Given the description of an element on the screen output the (x, y) to click on. 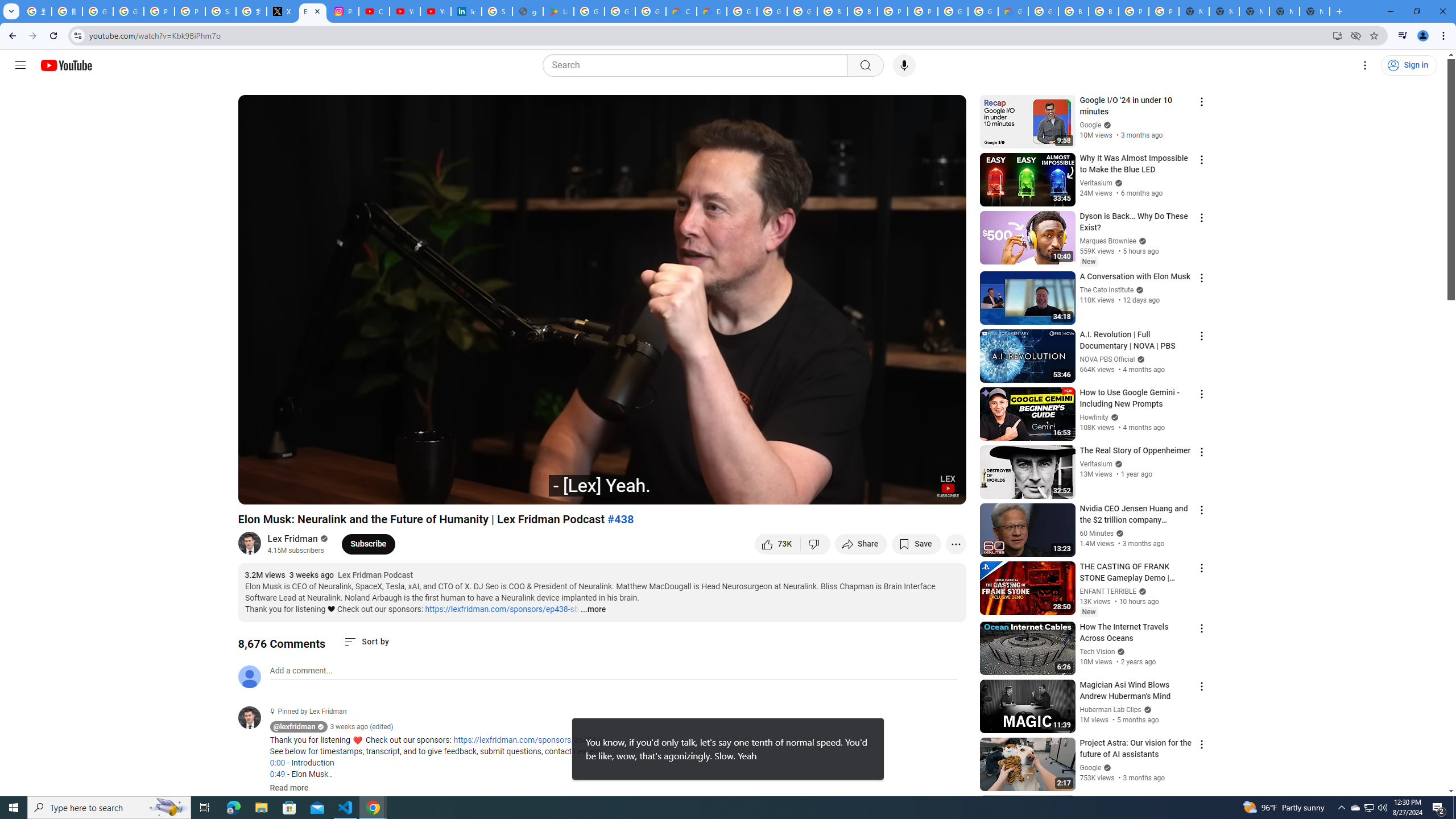
New Tab (1314, 11)
...more (592, 609)
Privacy Help Center - Policies Help (189, 11)
Google Cloud Platform (1042, 11)
YouTube Home (66, 65)
Channel watermark (947, 486)
Google Cloud Platform (952, 11)
